Given the description of an element on the screen output the (x, y) to click on. 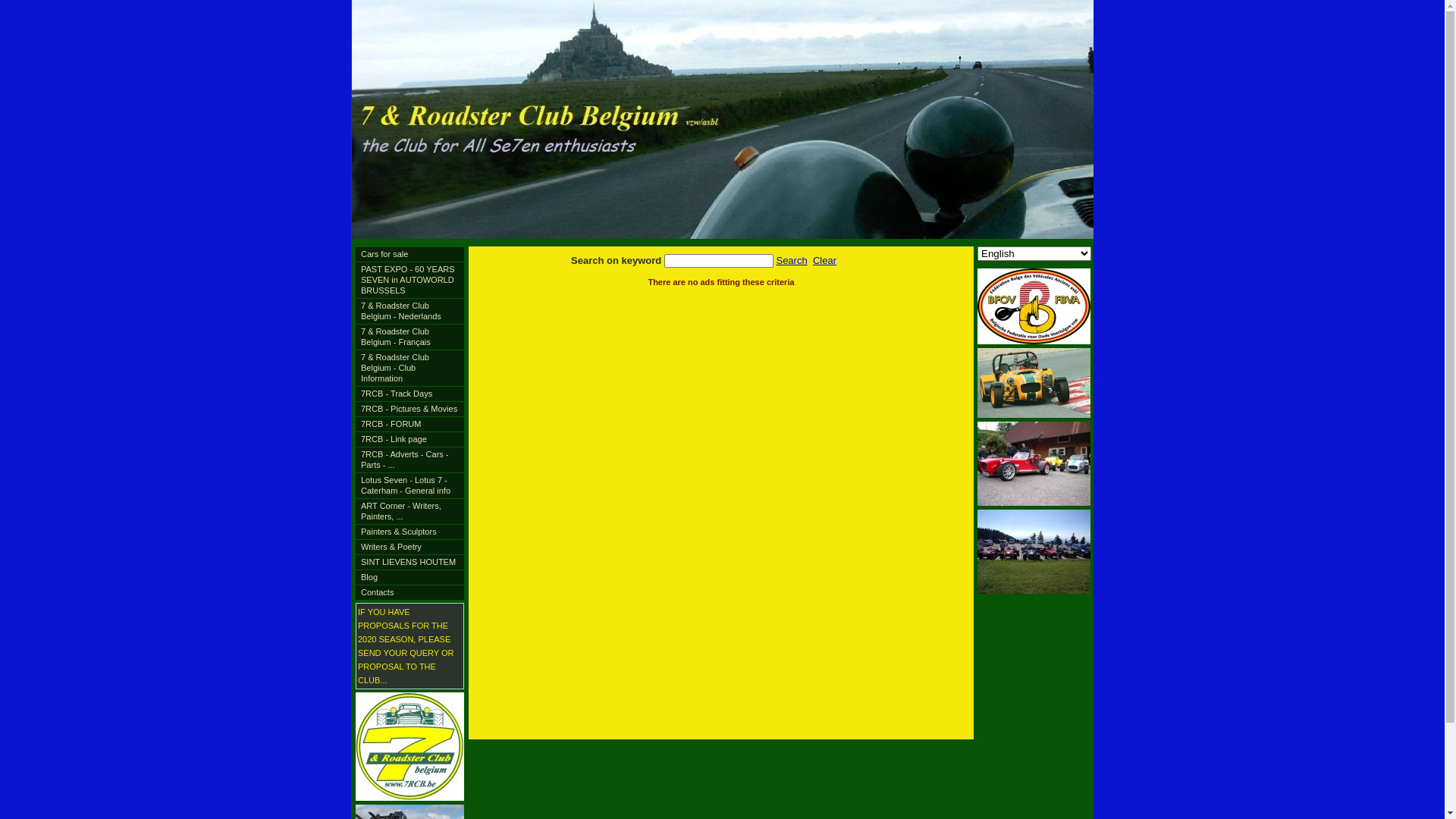
7RCB - Adverts - Cars - Parts - ... Element type: text (409, 459)
ART Corner - Writers, Painters, ... Element type: text (409, 511)
7RCB - Link page Element type: text (409, 439)
Blog Element type: text (409, 577)
7RCB - Pictures & Movies Element type: text (409, 408)
Lotus Seven - Lotus 7 - Caterham - General info Element type: text (409, 485)
Clear Element type: text (824, 260)
7RCB - FORUM Element type: text (409, 424)
7RCB - Track Days Element type: text (409, 393)
Writers & Poetry Element type: text (409, 546)
Painters & Sculptors Element type: text (409, 531)
7 & Roadster Club Belgium - Nederlands Element type: text (409, 310)
SINT LIEVENS HOUTEM Element type: text (409, 562)
Contacts Element type: text (409, 592)
Search Element type: text (790, 260)
Cars for sale Element type: text (409, 254)
PAST EXPO - 60 YEARS SEVEN in AUTOWORLD BRUSSELS Element type: text (409, 280)
7 & Roadster Club Belgium - Club Information Element type: text (409, 367)
